Given the description of an element on the screen output the (x, y) to click on. 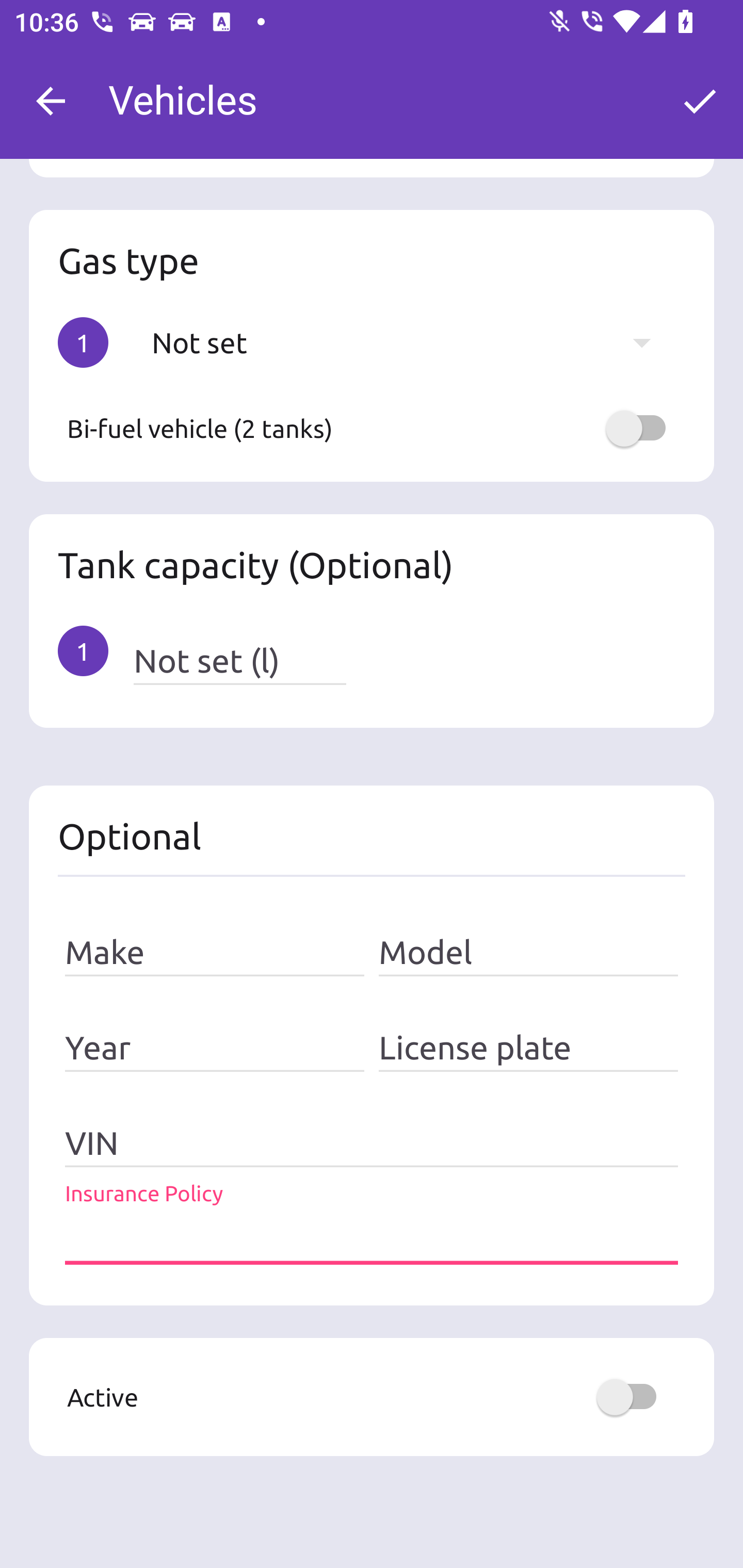
Navigate up (50, 101)
OK (699, 101)
Not set (411, 342)
Bi-fuel vehicle (2 tanks) (371, 428)
Not set (l) (239, 661)
Make (214, 952)
Model (528, 952)
Year (214, 1047)
License plate (528, 1047)
VIN (371, 1142)
Insurance Policy (371, 1238)
Active (371, 1397)
